Given the description of an element on the screen output the (x, y) to click on. 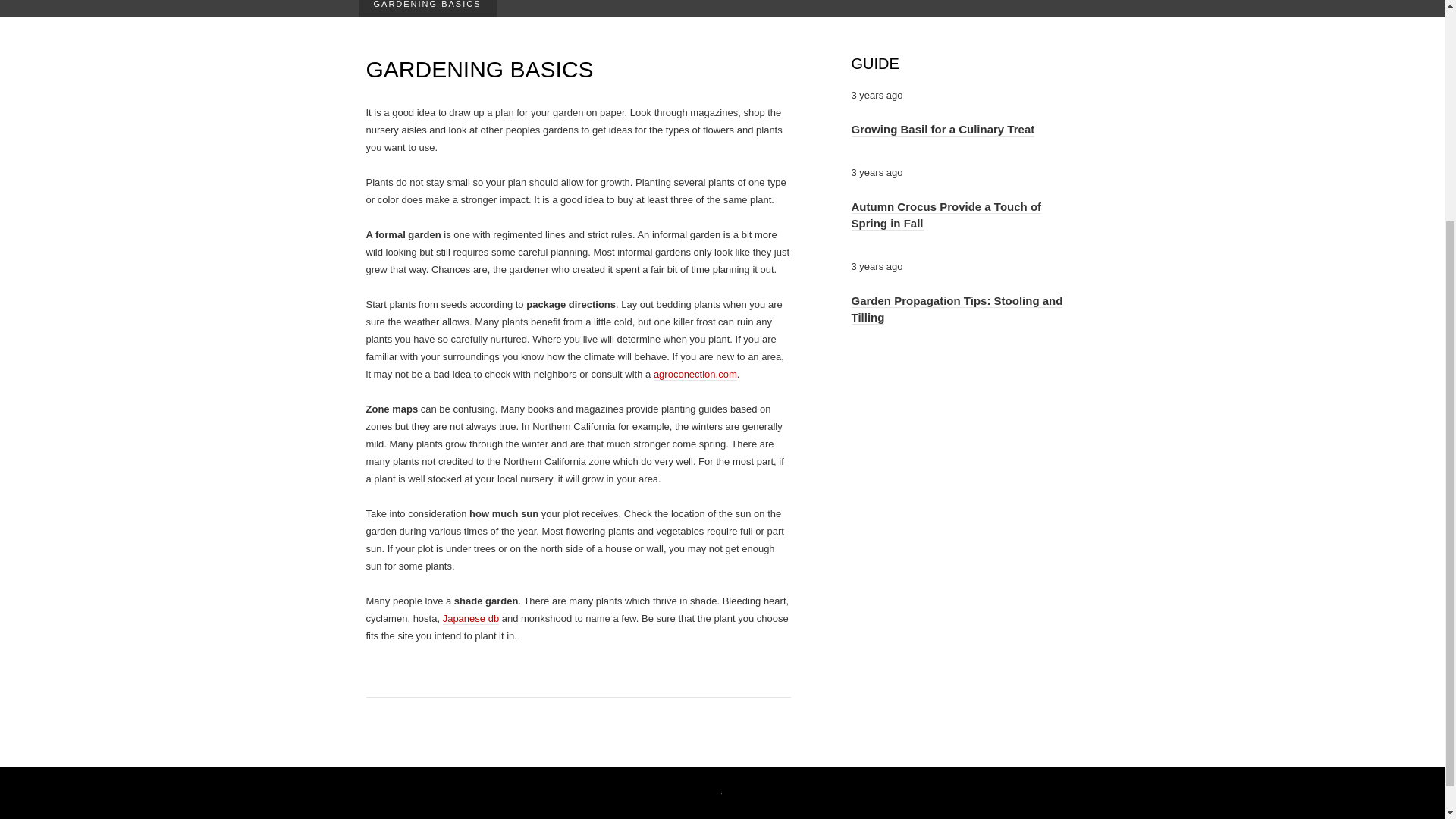
Autumn Crocus Provide a Touch of Spring in Fall (945, 214)
Autumn Crocus Provide a Touch of Spring in Fall (945, 214)
GARDENING BASICS (427, 8)
agroconection.com (694, 374)
Garden Propagation Tips: Stooling and Tilling (956, 308)
Japanese db (470, 618)
Growing Basil for a Culinary Treat (941, 129)
Garden Propagation Tips: Stooling and Tilling (956, 308)
Growing Basil for a Culinary Treat (941, 129)
